Given the description of an element on the screen output the (x, y) to click on. 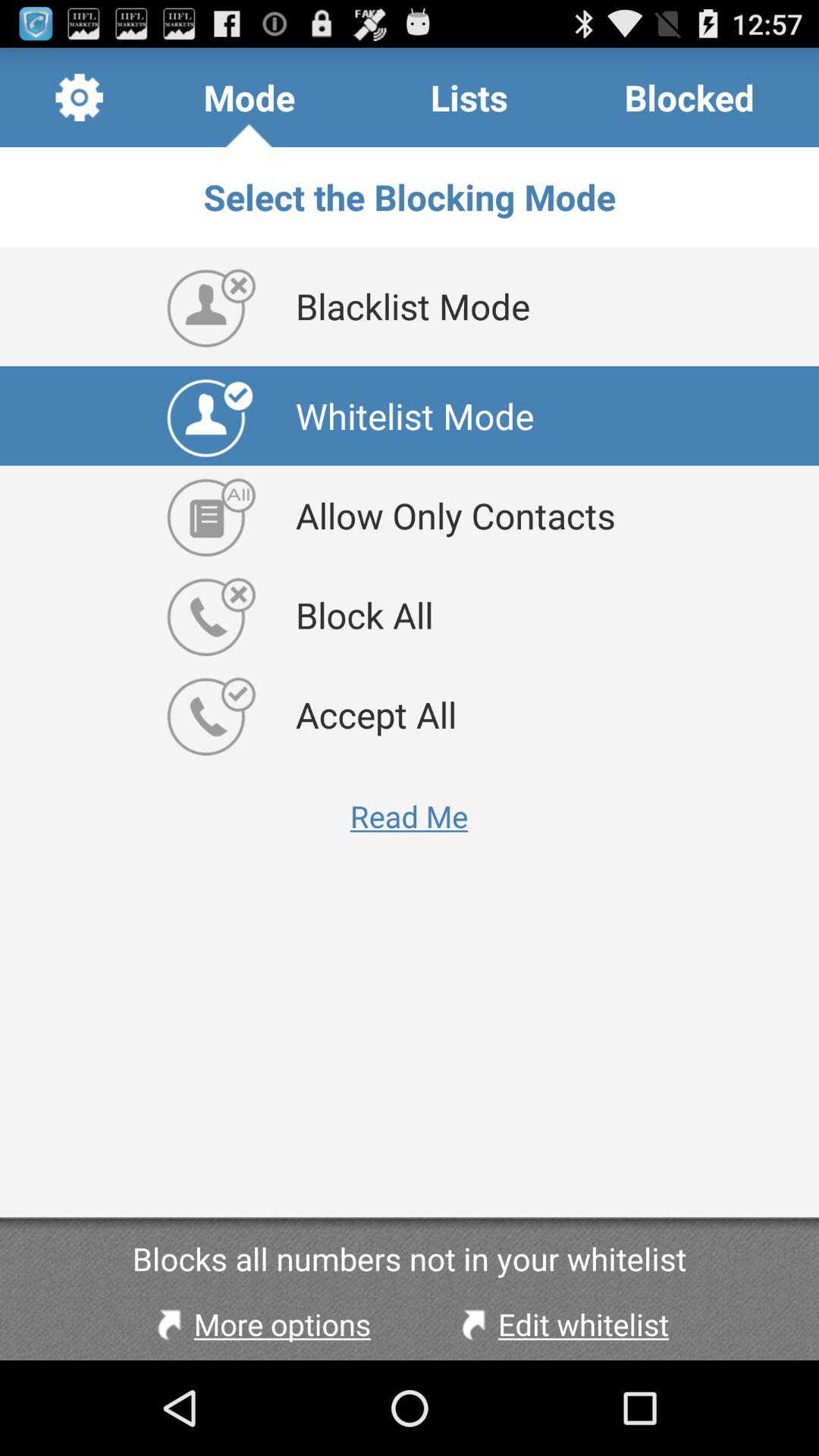
turn on the edit whitelist (561, 1324)
